Given the description of an element on the screen output the (x, y) to click on. 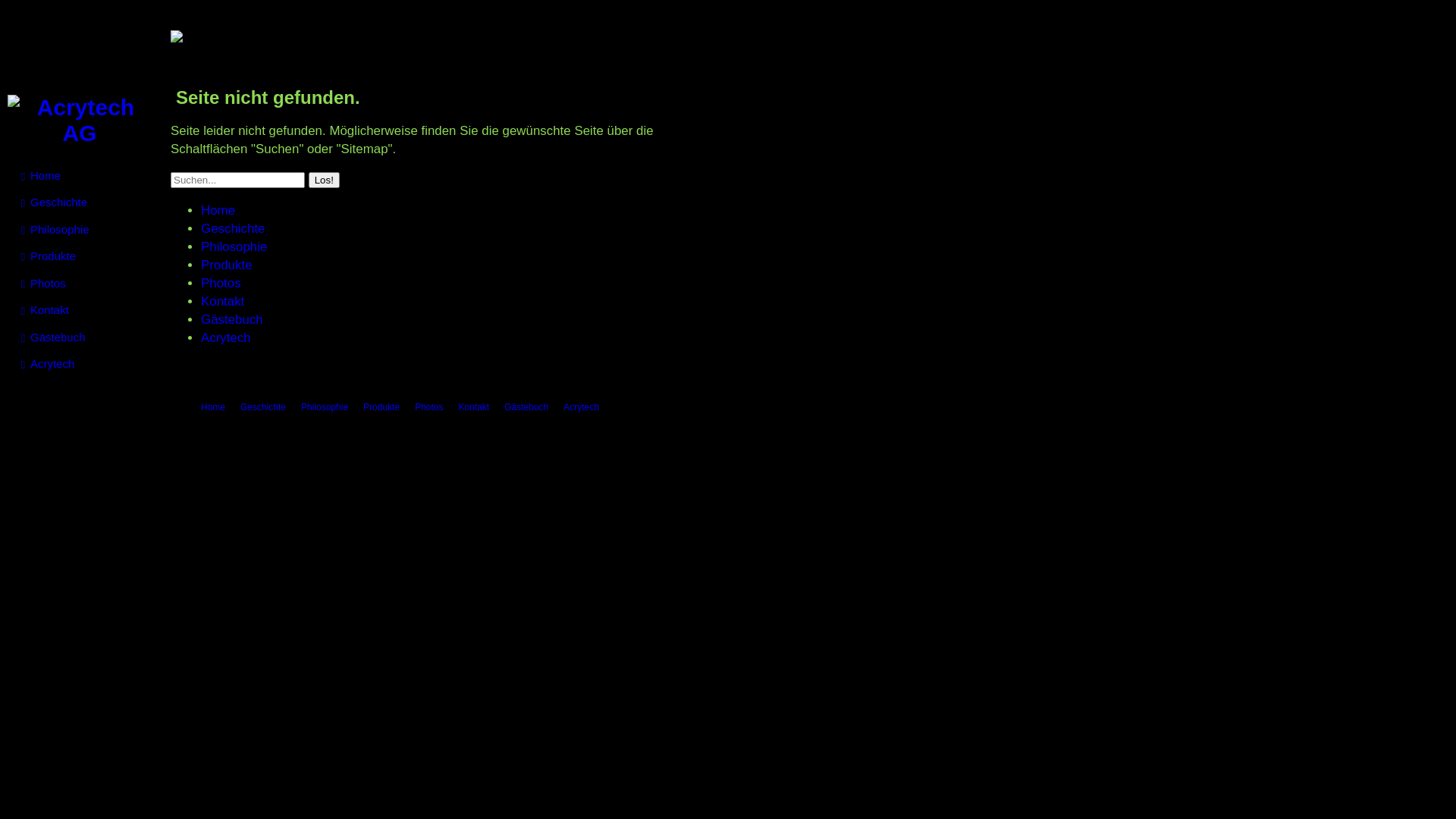
Photos Element type: text (428, 406)
Philosophie Element type: text (233, 246)
Acrytech Element type: text (581, 406)
Geschichte Element type: text (232, 228)
Photos Element type: text (86, 283)
Home Element type: text (217, 210)
Acrytech Element type: text (225, 337)
Kontakt Element type: text (222, 301)
Produkte Element type: text (381, 406)
Produkte Element type: text (86, 255)
Home Element type: text (86, 175)
Home Element type: text (212, 406)
Philosophie Element type: text (324, 406)
Acrytech Element type: text (86, 363)
Geschichte Element type: text (262, 406)
Photos Element type: text (220, 283)
Produkte Element type: text (226, 264)
Kontakt Element type: text (86, 309)
Geschichte Element type: text (86, 202)
Los! Element type: text (323, 180)
Kontakt Element type: text (473, 406)
Philosophie Element type: text (86, 229)
